Given the description of an element on the screen output the (x, y) to click on. 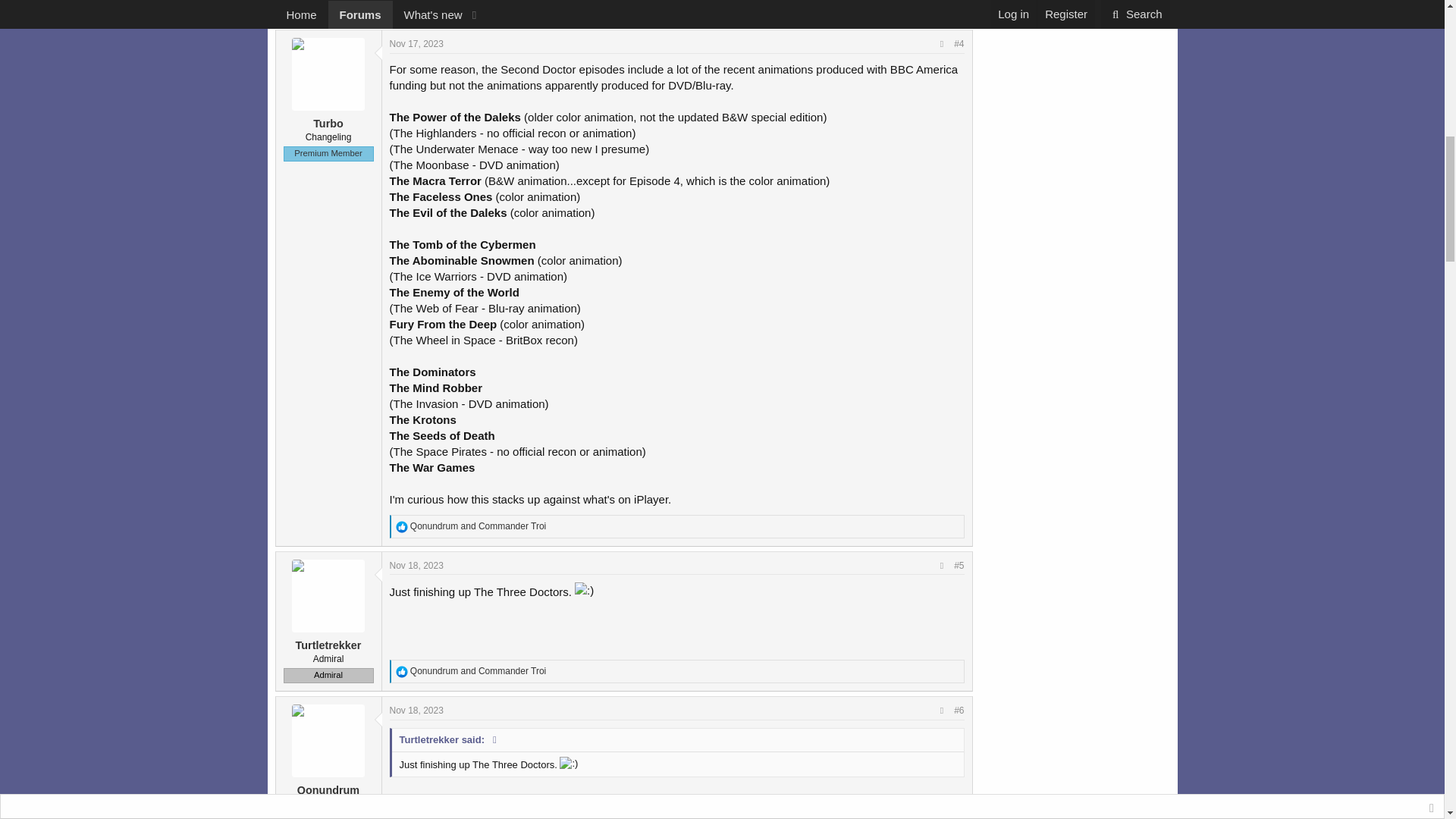
Like (401, 526)
Nov 18, 2023 at 2:40 PM (417, 710)
Like (401, 5)
Like (401, 671)
Nov 18, 2023 at 2:21 AM (417, 565)
Nov 17, 2023 at 4:40 PM (417, 43)
